Given the description of an element on the screen output the (x, y) to click on. 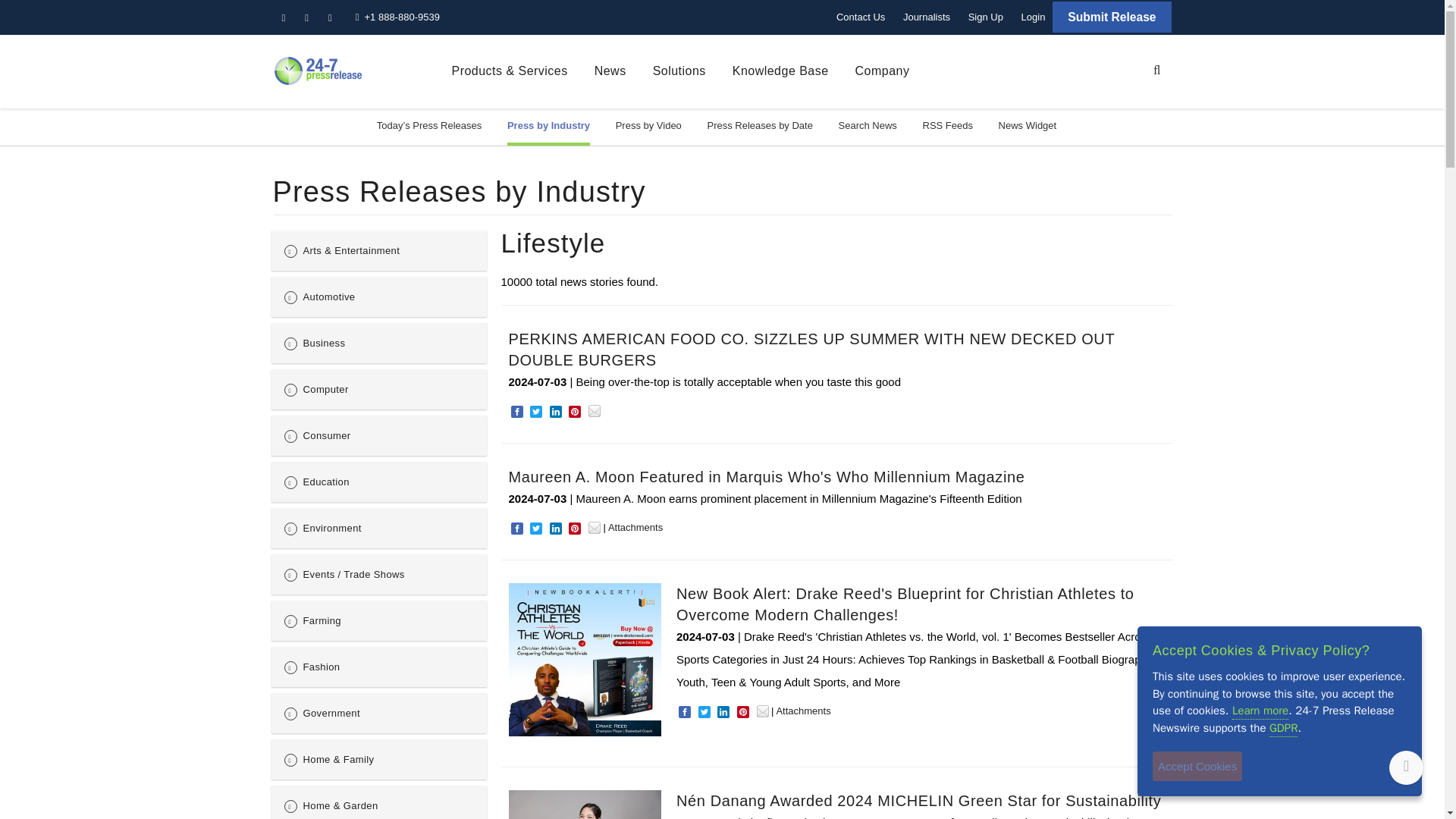
Company (882, 71)
Sign Up (985, 16)
Solutions (679, 71)
Journalists (926, 16)
Knowledge Base (780, 71)
Contact Us (860, 16)
News (610, 71)
Login (1032, 16)
Submit Release (1111, 16)
